Given the description of an element on the screen output the (x, y) to click on. 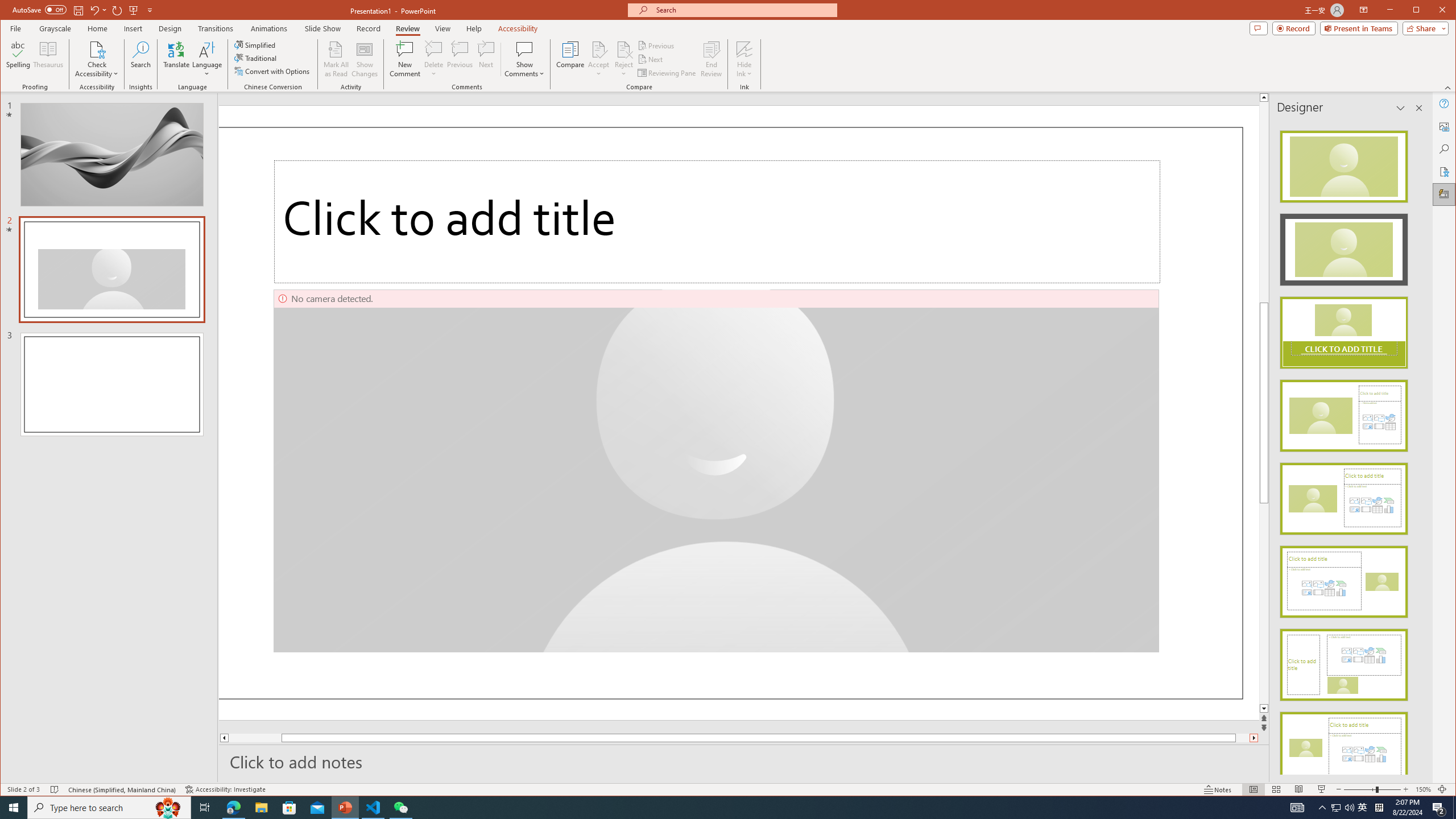
Title TextBox (716, 221)
Maximize (1432, 11)
Hide Ink (744, 59)
New Comment (405, 59)
